Given the description of an element on the screen output the (x, y) to click on. 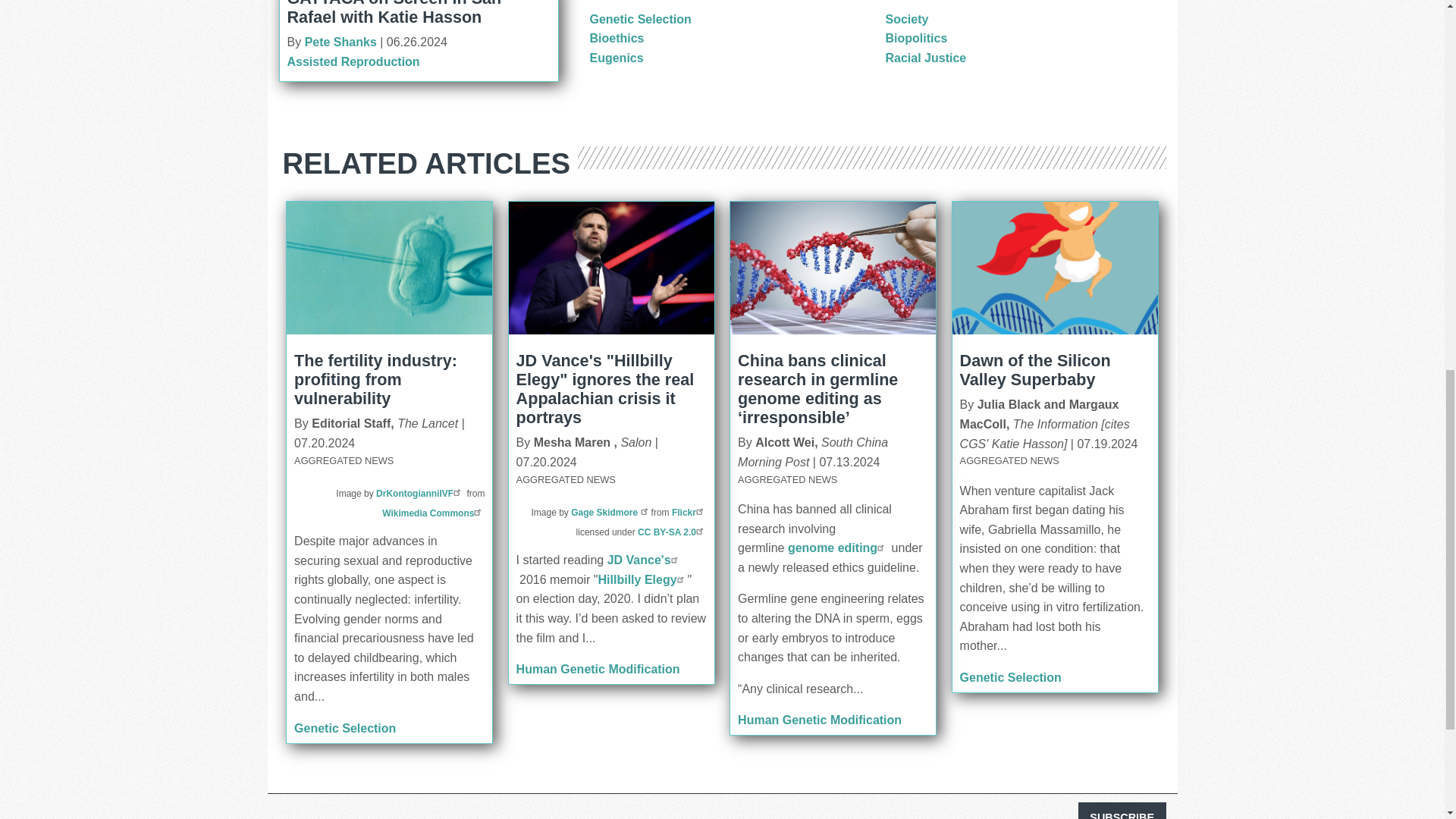
The fertility industry: profiting from vulnerability (375, 379)
Assisted Reproduction (352, 61)
Racial Justice (925, 57)
Bioethics (617, 38)
Genetic Selection (345, 727)
Society (906, 19)
Genetic Selection (640, 19)
Biopolitics (916, 38)
Eugenics (616, 57)
GATTACA on Screen in San Rafael with Katie Hasson (393, 13)
Pete Shanks (340, 42)
